Given the description of an element on the screen output the (x, y) to click on. 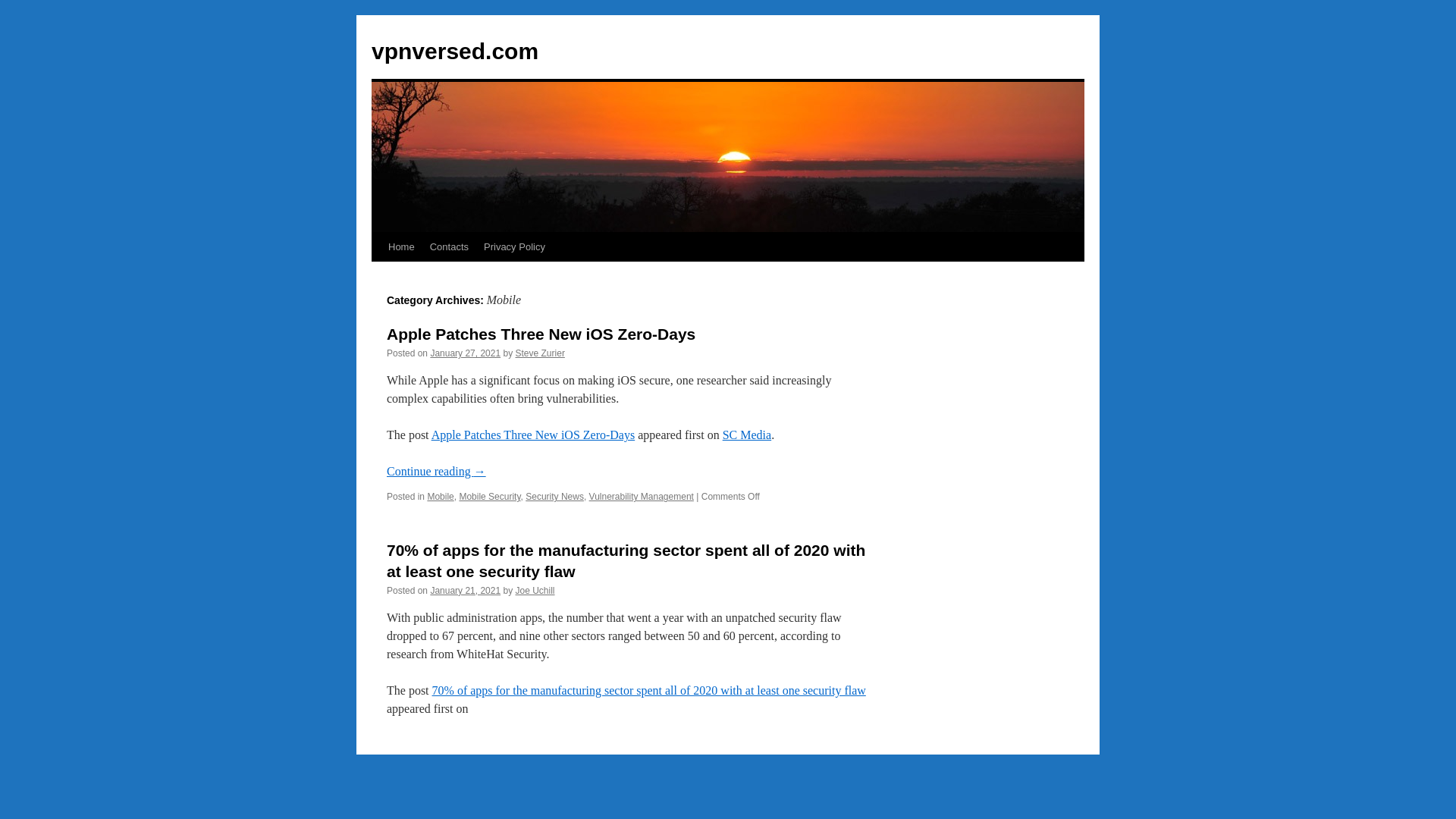
January 21, 2021 (464, 590)
vpnversed.com (454, 50)
Apple Patches Three New iOS Zero-Days (541, 334)
Privacy Policy (514, 246)
10:05 pm (464, 590)
Mobile Security (488, 496)
vpnversed.com (454, 50)
Vulnerability Management (641, 496)
Joe Uchill (534, 590)
View all posts by Joe Uchill (534, 590)
